Given the description of an element on the screen output the (x, y) to click on. 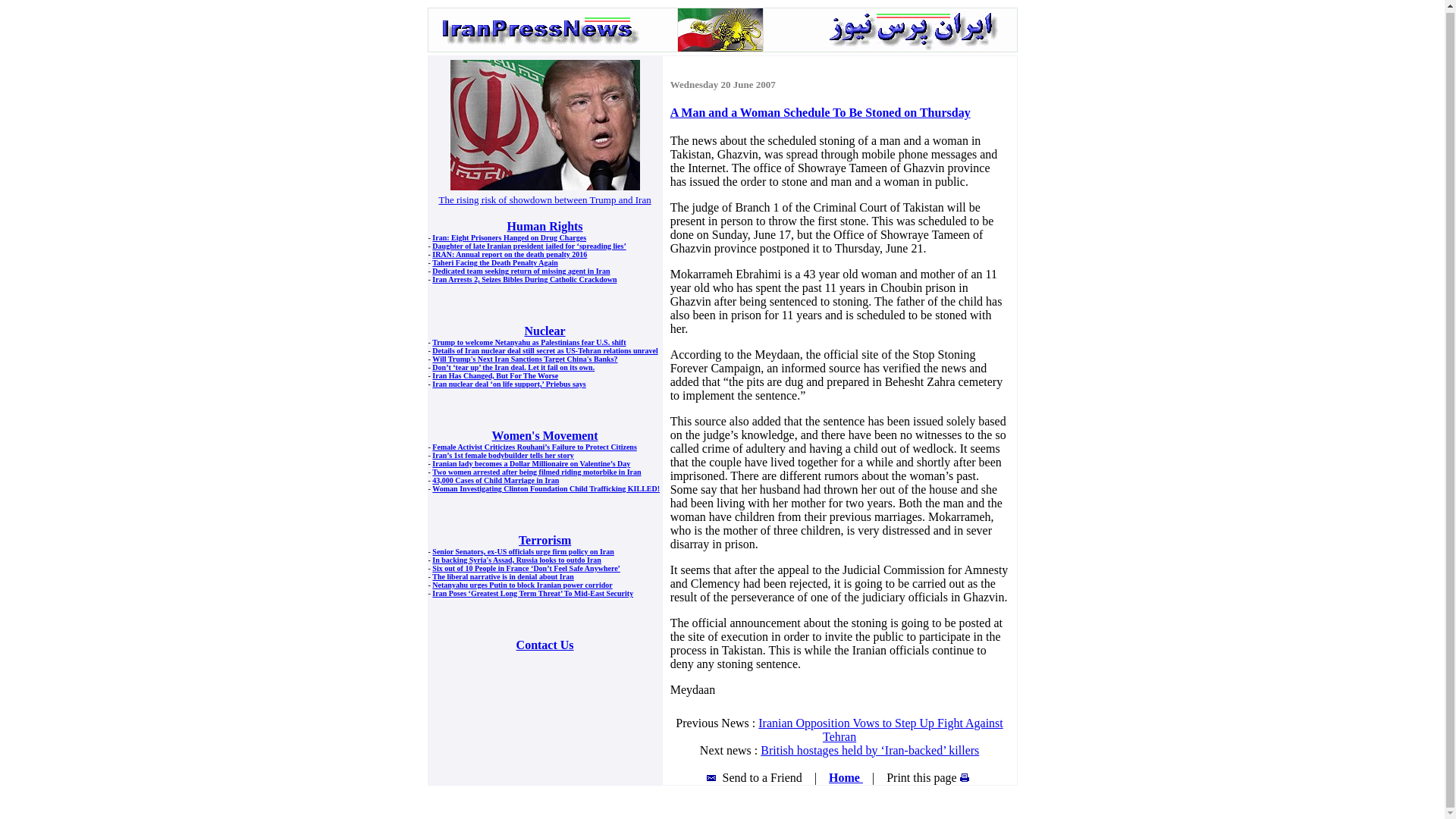
A Man and a Woman Schedule To Be Stoned on Thursday (820, 112)
Home (845, 777)
Women's Movement (545, 435)
Will Trump's Next Iran Sanctions Target China's Banks? (524, 358)
Send to a Friend (755, 777)
Senior Senators, ex-US officials urge firm policy on Iran (523, 551)
Iran: Eight Prisoners Hanged on Drug Charges (509, 237)
Terrorism (544, 540)
